Given the description of an element on the screen output the (x, y) to click on. 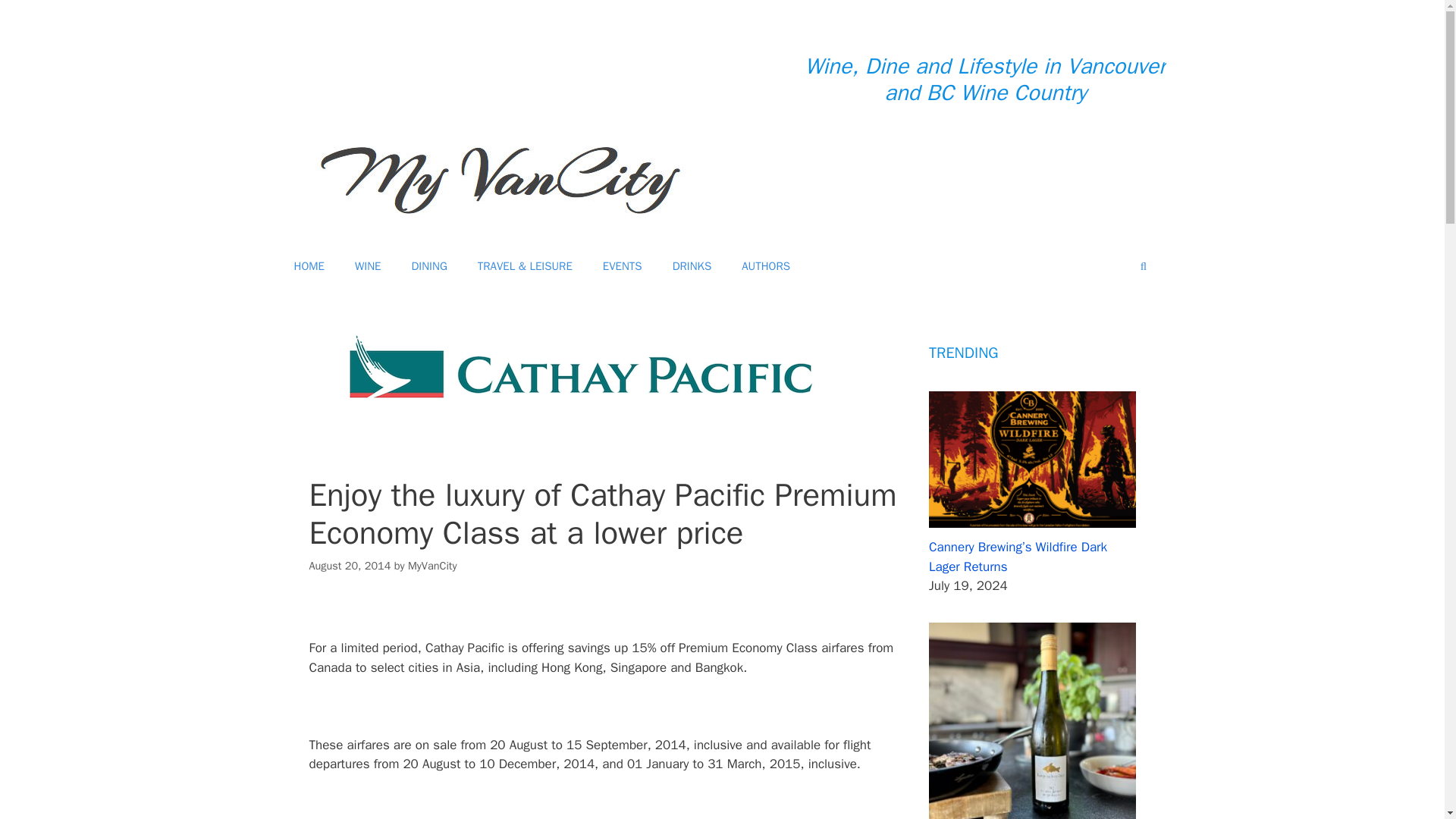
HOME (309, 266)
DRINKS (692, 266)
View all posts by MyVanCity (432, 565)
WINE (367, 266)
EVENTS (623, 266)
AUTHORS (765, 266)
DINING (428, 266)
MyVanCity (432, 565)
